Given the description of an element on the screen output the (x, y) to click on. 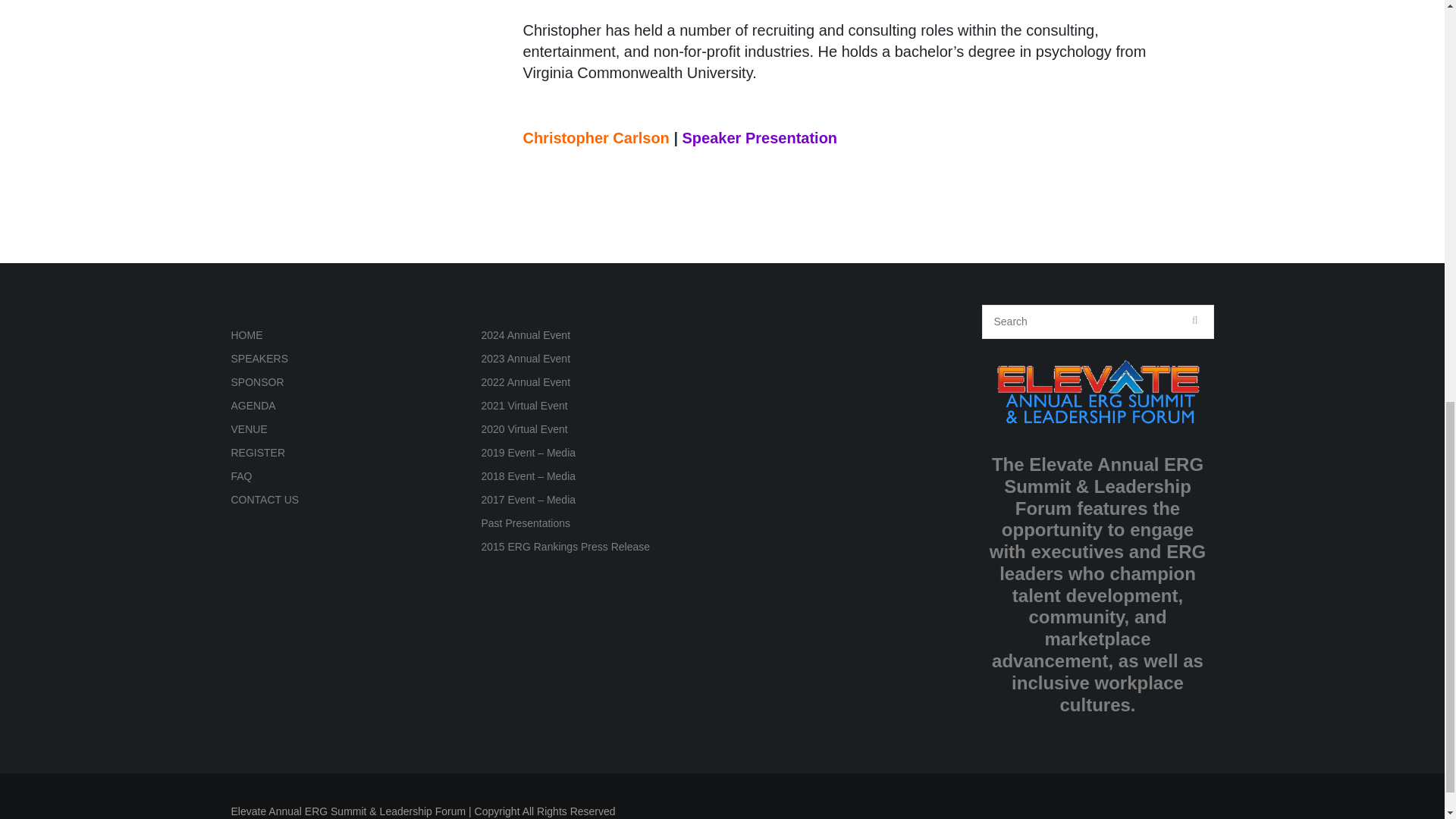
HOME (246, 335)
SPEAKERS (258, 358)
2023 Annual Event (525, 358)
2022 Annual Event (525, 381)
FAQ (240, 476)
VENUE (248, 428)
REGISTER (257, 452)
2024 Annual Event (525, 335)
2020 Virtual Event (523, 428)
Past Presentations (525, 522)
CONTACT US (264, 499)
SPONSOR (256, 381)
AGENDA (252, 405)
2021 Virtual Event (523, 405)
